Given the description of an element on the screen output the (x, y) to click on. 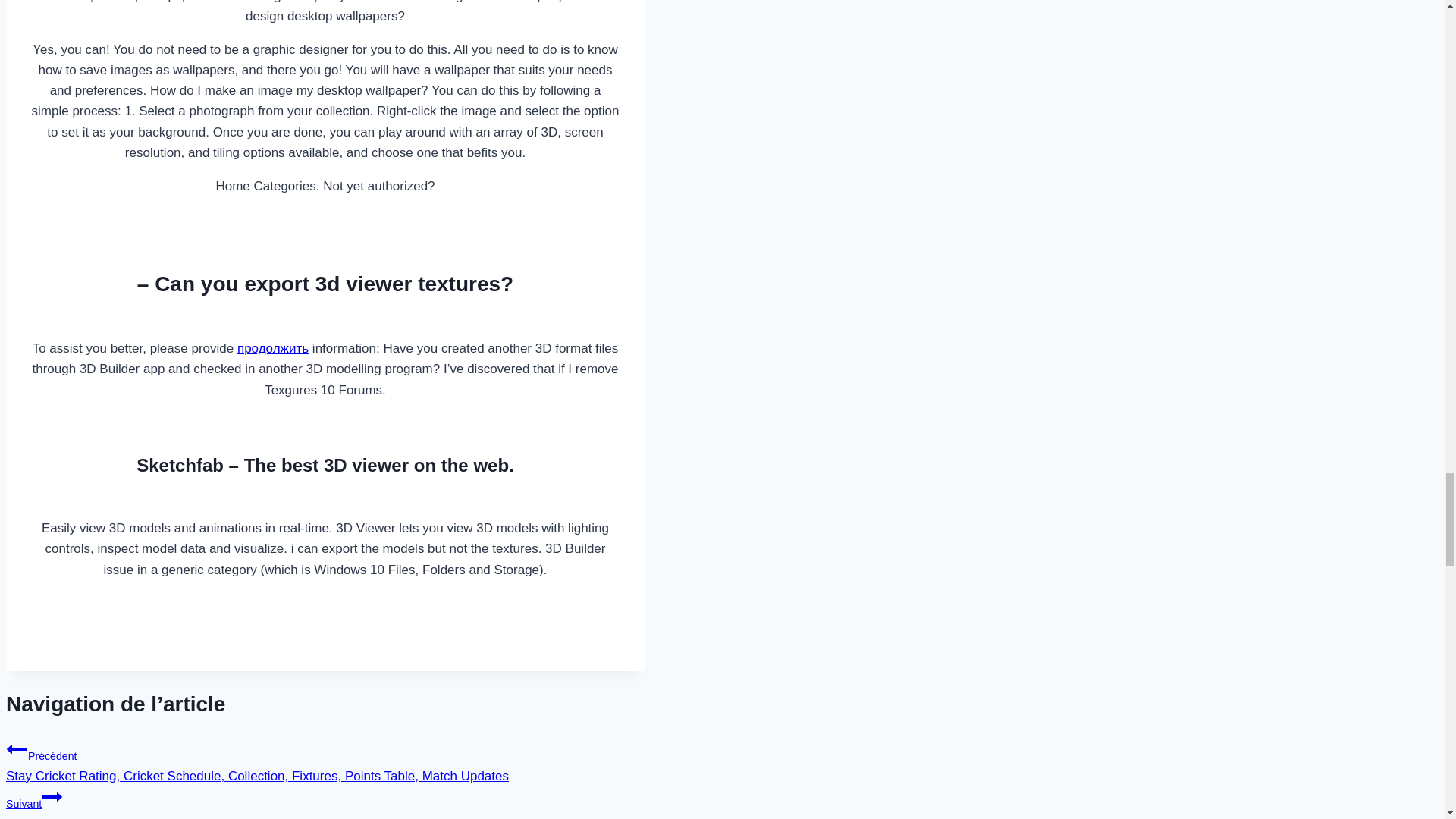
Continuer (52, 796)
